Given the description of an element on the screen output the (x, y) to click on. 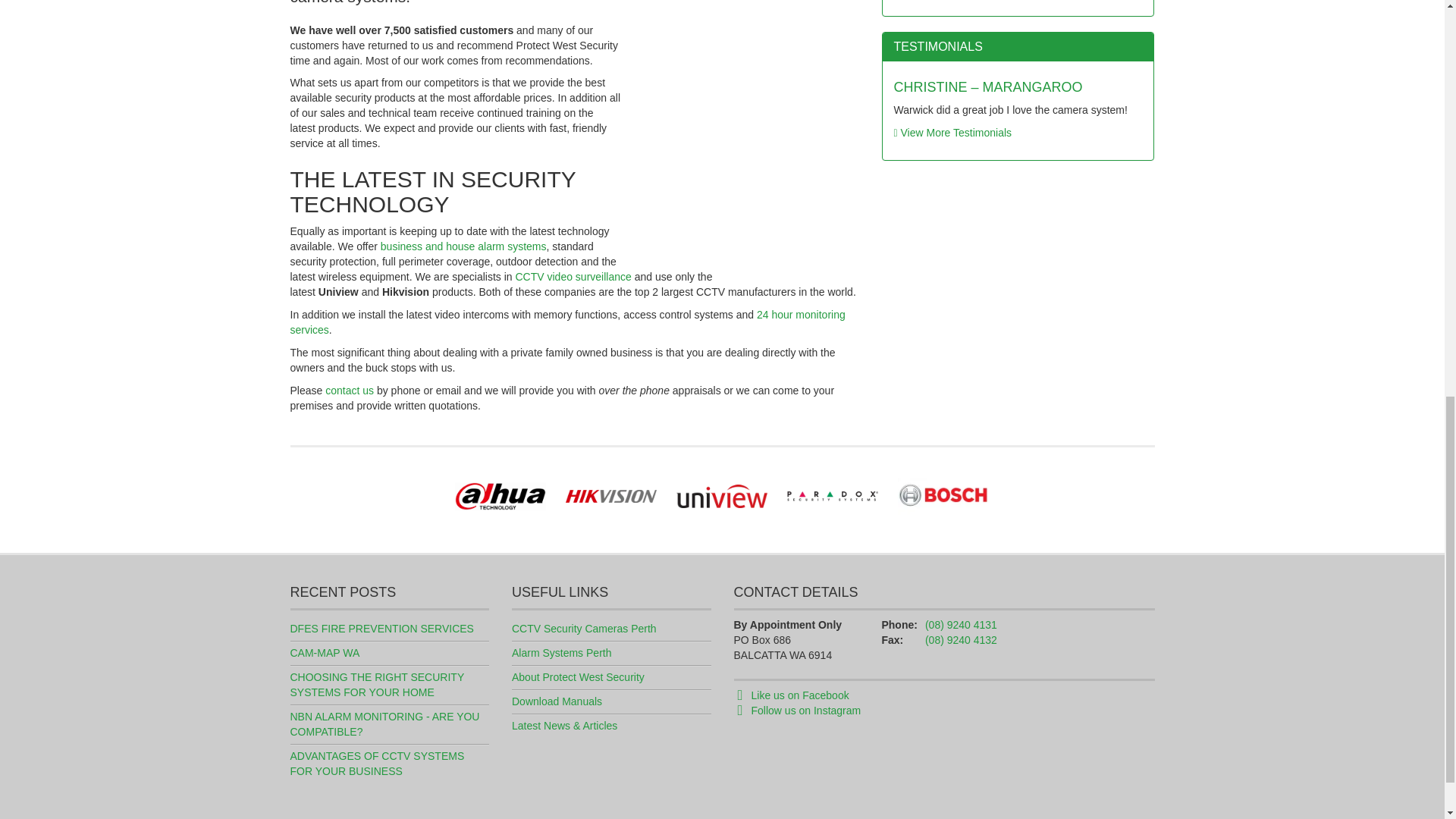
business and house alarm systems (463, 246)
About Protect West Security (578, 676)
contact us (349, 390)
CAM-MAP WA (324, 653)
View More Testimonials (952, 132)
Download Manuals (557, 701)
CCTV video surveillance (572, 276)
Alarm Systems Perth (561, 653)
NBN ALARM MONITORING - ARE YOU COMPATIBLE? (384, 723)
CHOOSING THE RIGHT SECURITY SYSTEMS FOR YOUR HOME (376, 684)
